Given the description of an element on the screen output the (x, y) to click on. 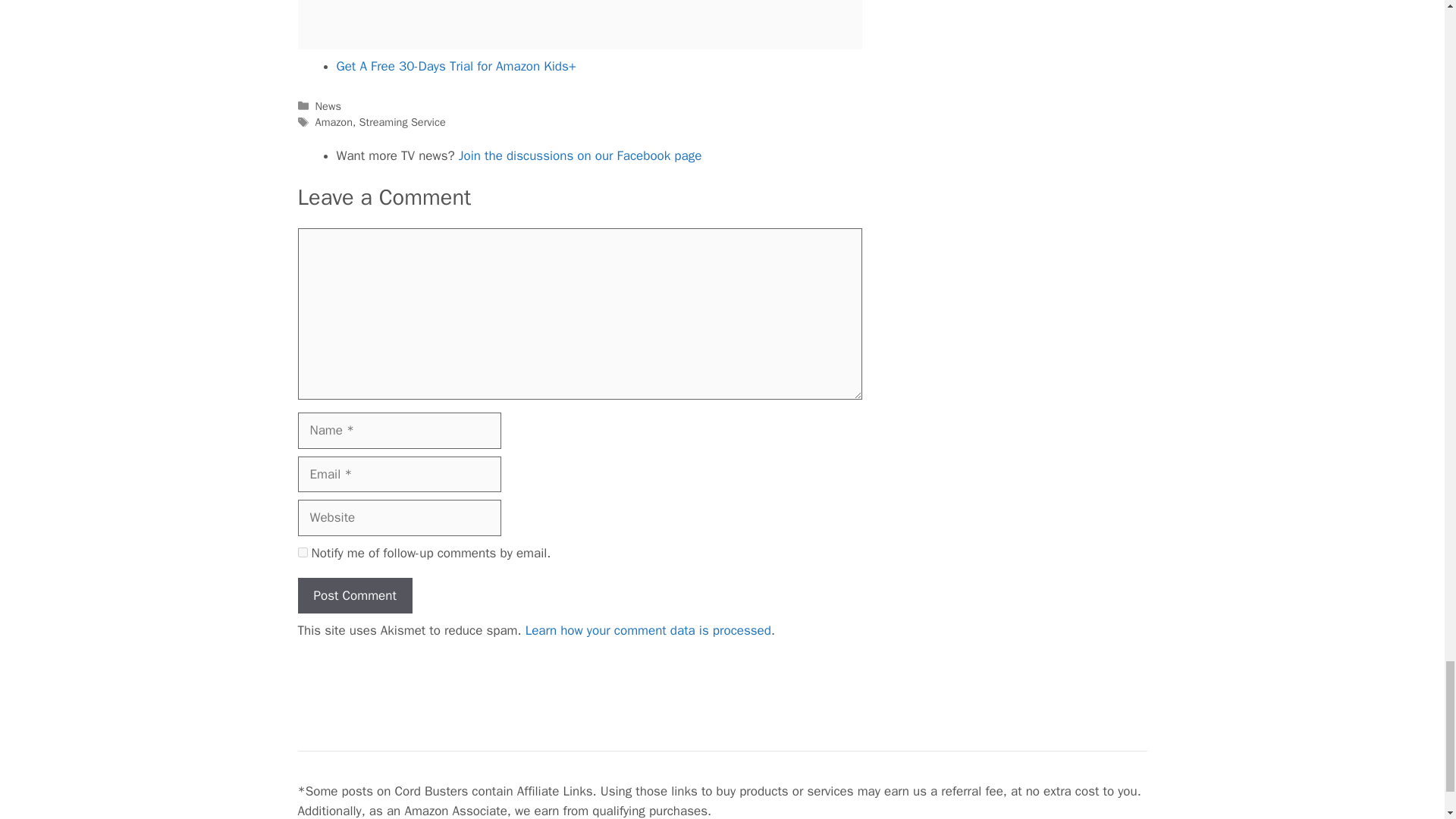
subscribe (302, 552)
Post Comment (354, 596)
News (327, 106)
Streaming Service (402, 121)
Join the discussions on our Facebook page (579, 155)
Learn how your comment data is processed (648, 630)
Post Comment (354, 596)
Amazon (333, 121)
